Given the description of an element on the screen output the (x, y) to click on. 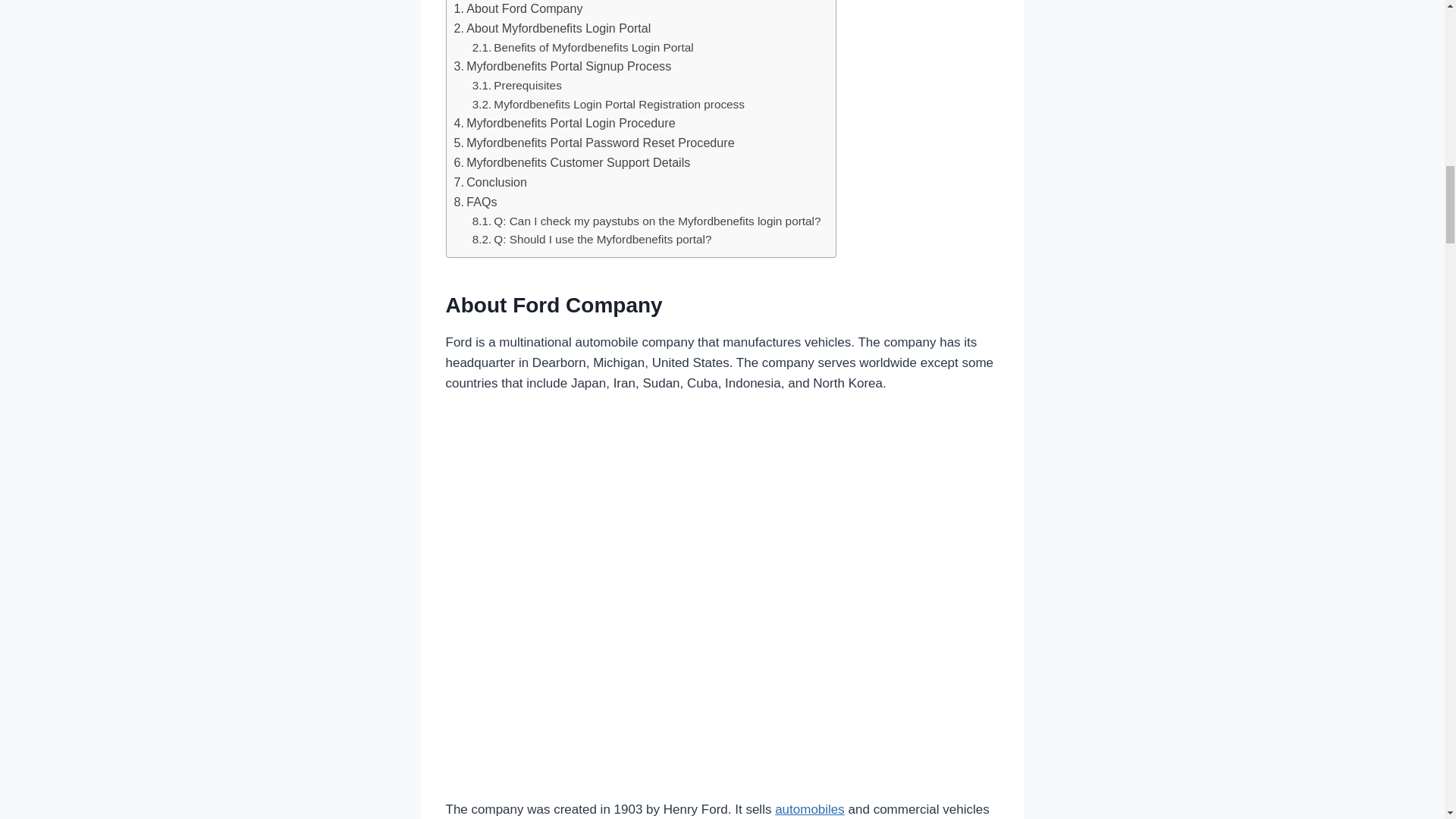
Benefits of Myfordbenefits Login Portal (582, 47)
Conclusion (489, 182)
Myfordbenefits Customer Support Details (571, 162)
FAQs (474, 202)
Myfordbenefits Portal Signup Process (561, 66)
Myfordbenefits Customer Support Details (571, 162)
About Myfordbenefits Login Portal (551, 28)
Myfordbenefits Portal Login Procedure (563, 123)
Conclusion (489, 182)
About Ford Company (517, 9)
